Given the description of an element on the screen output the (x, y) to click on. 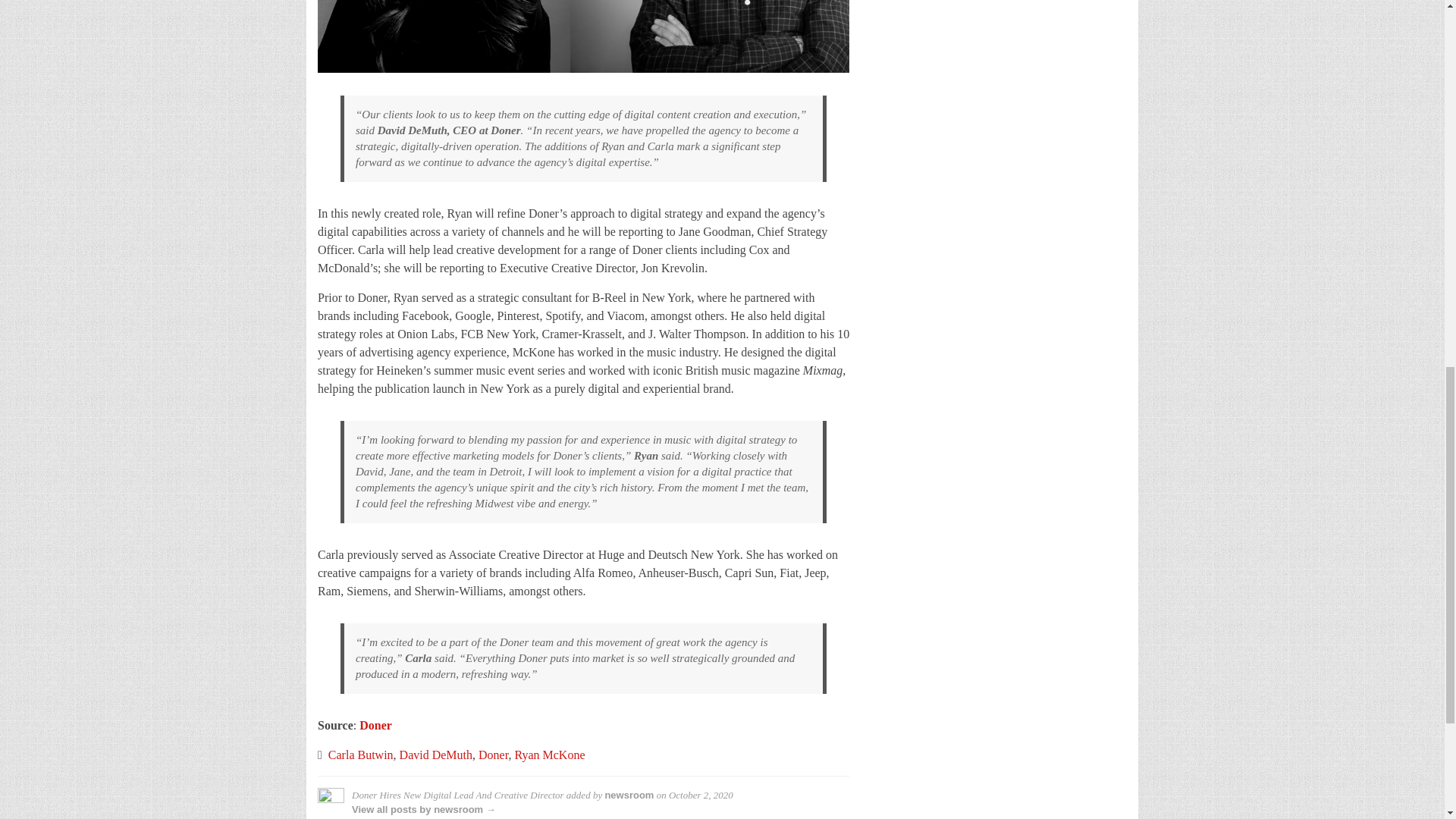
David DeMuth (434, 754)
Carla Butwin (361, 754)
Doner (375, 725)
Doner (493, 754)
Ryan McKone (549, 754)
